Given the description of an element on the screen output the (x, y) to click on. 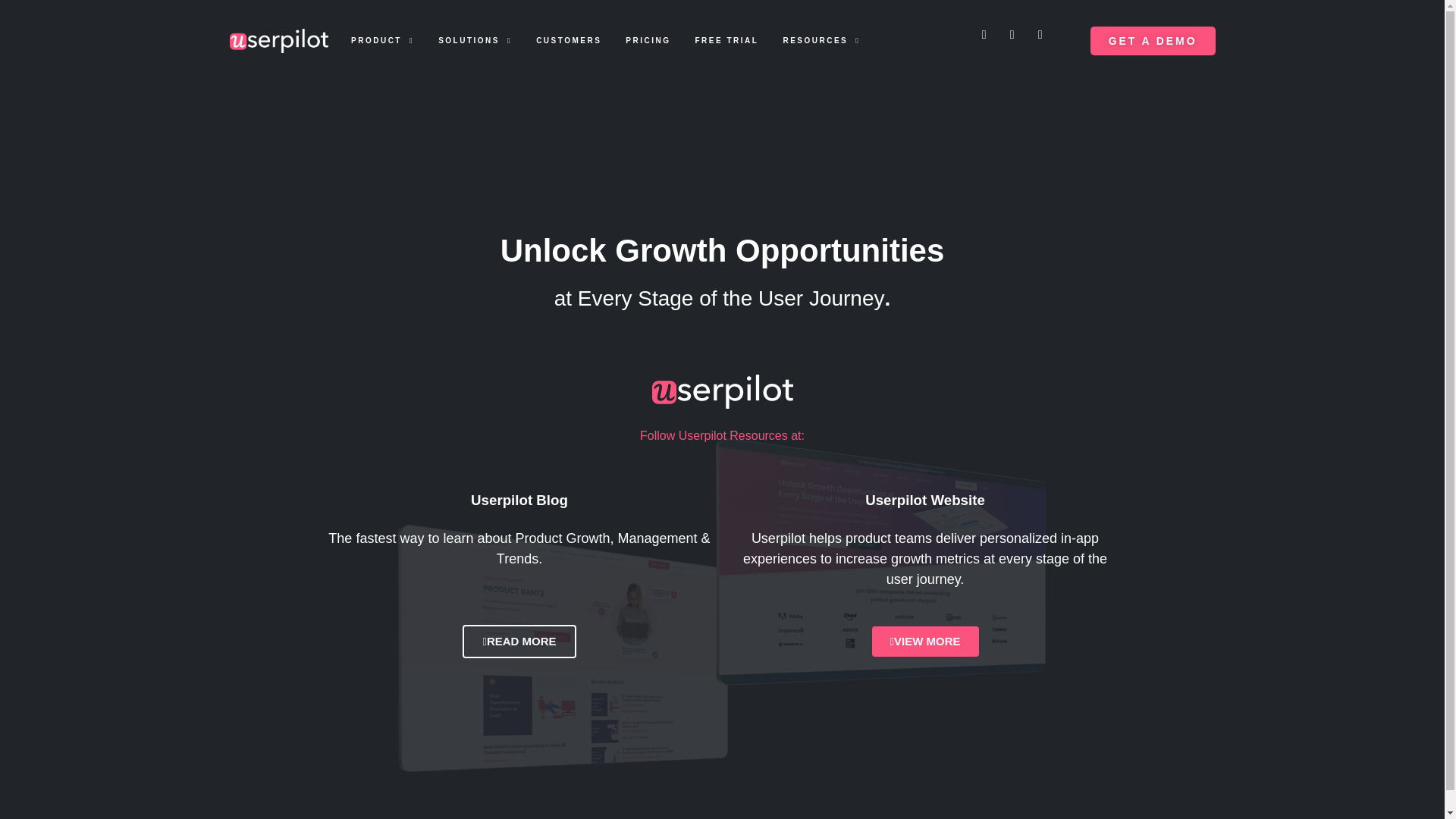
FREE TRIAL (726, 40)
RESOURCES (821, 40)
PRICING (647, 40)
CUSTOMERS (568, 40)
SOLUTIONS (475, 40)
PRODUCT (381, 40)
